Given the description of an element on the screen output the (x, y) to click on. 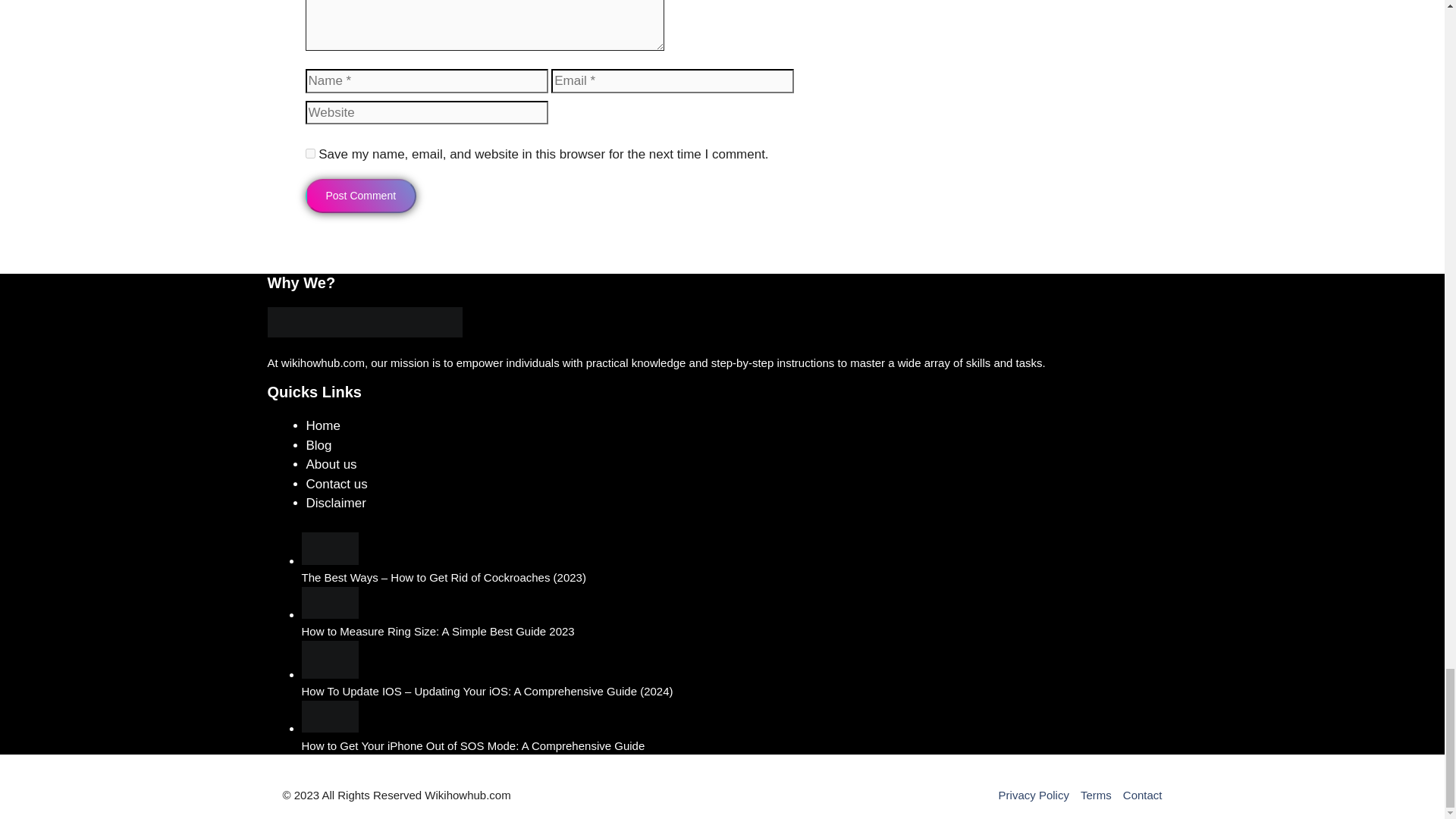
yes (309, 153)
Post Comment (360, 195)
